Given the description of an element on the screen output the (x, y) to click on. 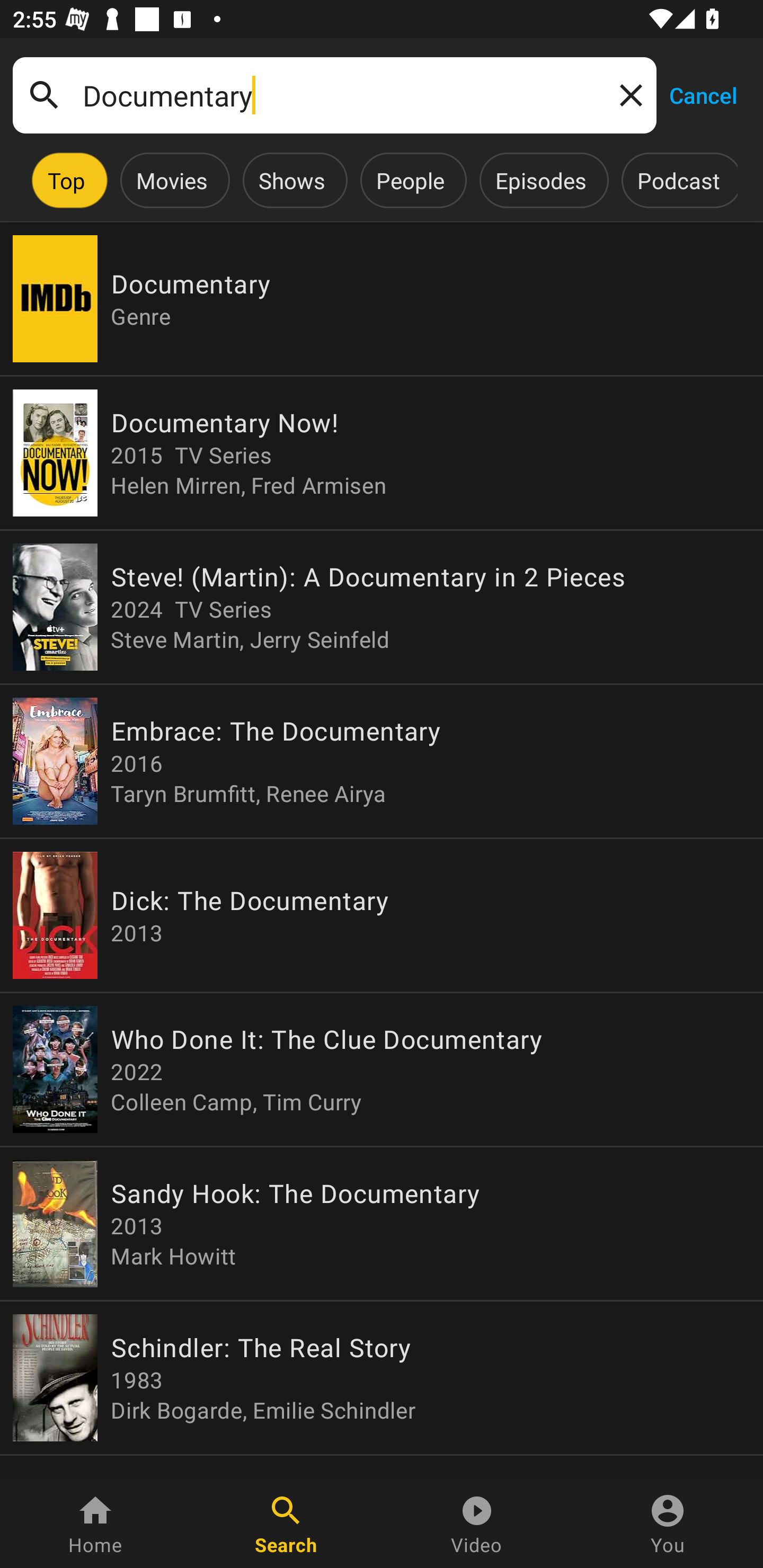
Clear query (627, 94)
Cancel (703, 94)
Documentary (334, 95)
Top (66, 180)
Movies (171, 180)
Shows (291, 180)
People (410, 180)
Episodes (540, 180)
Podcast (678, 180)
Documentary Genre (381, 298)
Dick: The Documentary 2013 (381, 914)
Sandy Hook: The Documentary 2013 Mark Howitt (381, 1223)
Home (95, 1523)
Video (476, 1523)
You (667, 1523)
